Given the description of an element on the screen output the (x, y) to click on. 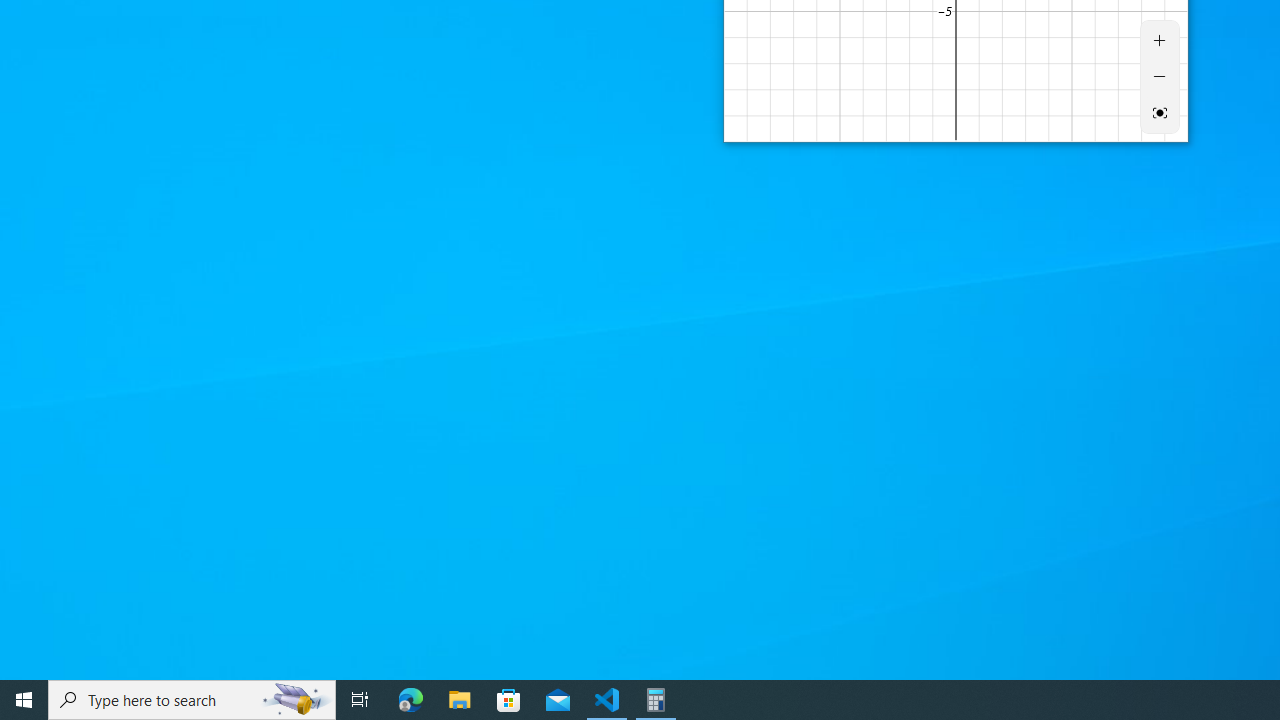
Calculator - 1 running window (656, 699)
